Given the description of an element on the screen output the (x, y) to click on. 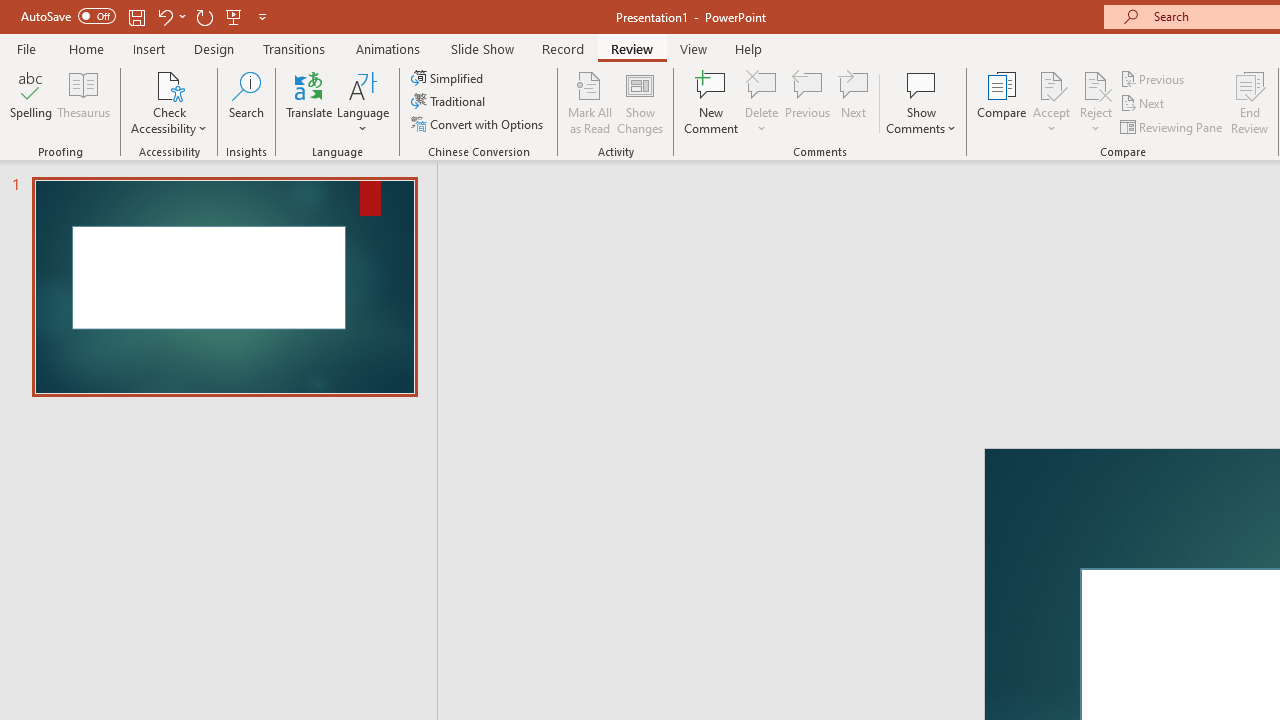
Accept Change (1051, 84)
Language (363, 102)
Simplified (449, 78)
Compare (1002, 102)
End Review (1249, 102)
Show Changes (639, 102)
